Given the description of an element on the screen output the (x, y) to click on. 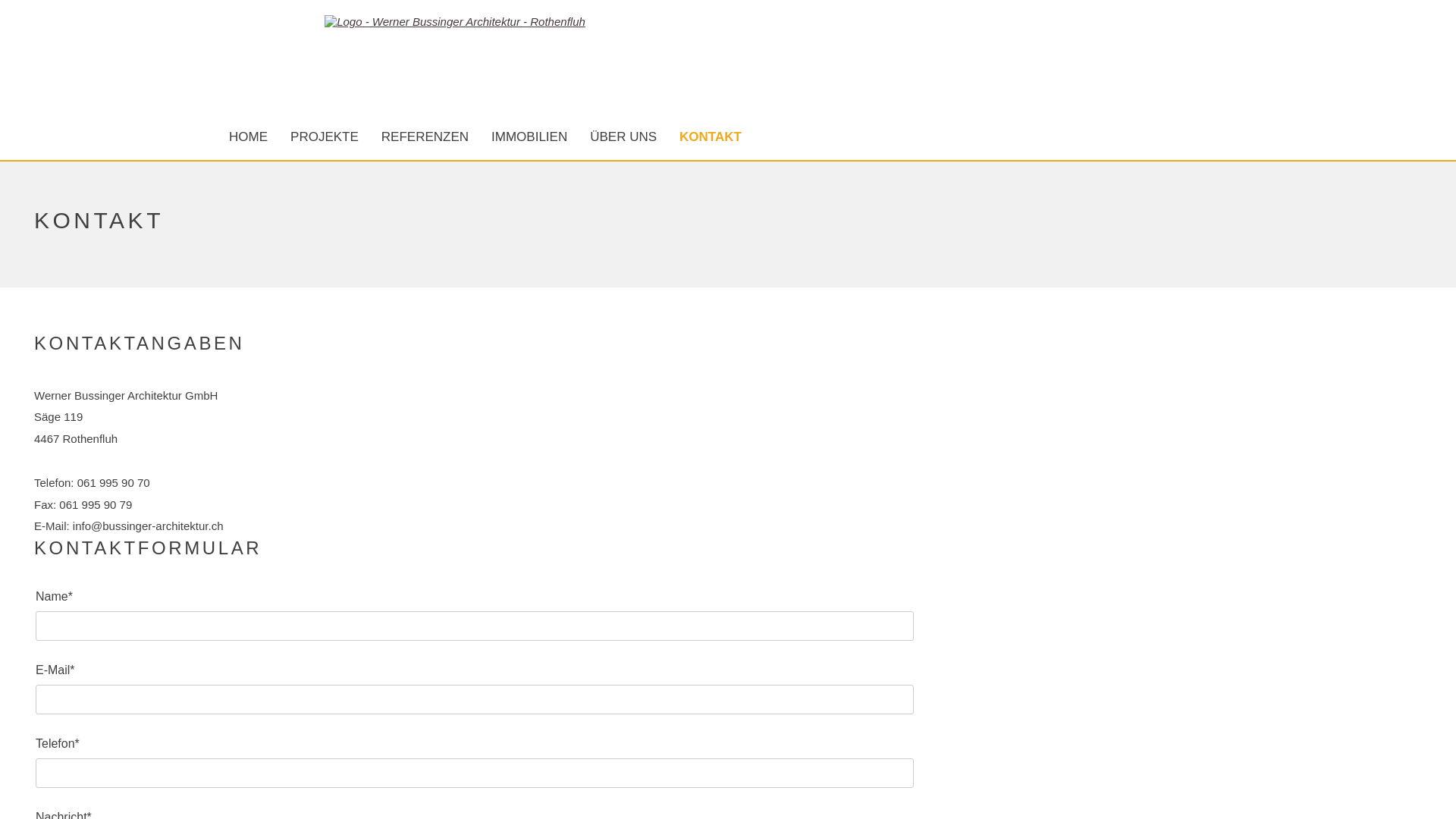
061 995 90 70 Element type: text (113, 482)
REFERENZEN Element type: text (424, 136)
IMMOBILIEN Element type: text (529, 136)
PROJEKTE Element type: text (324, 136)
KONTAKT Element type: text (710, 136)
info@bussinger-architektur.ch Element type: text (147, 525)
HOME Element type: text (248, 136)
